Given the description of an element on the screen output the (x, y) to click on. 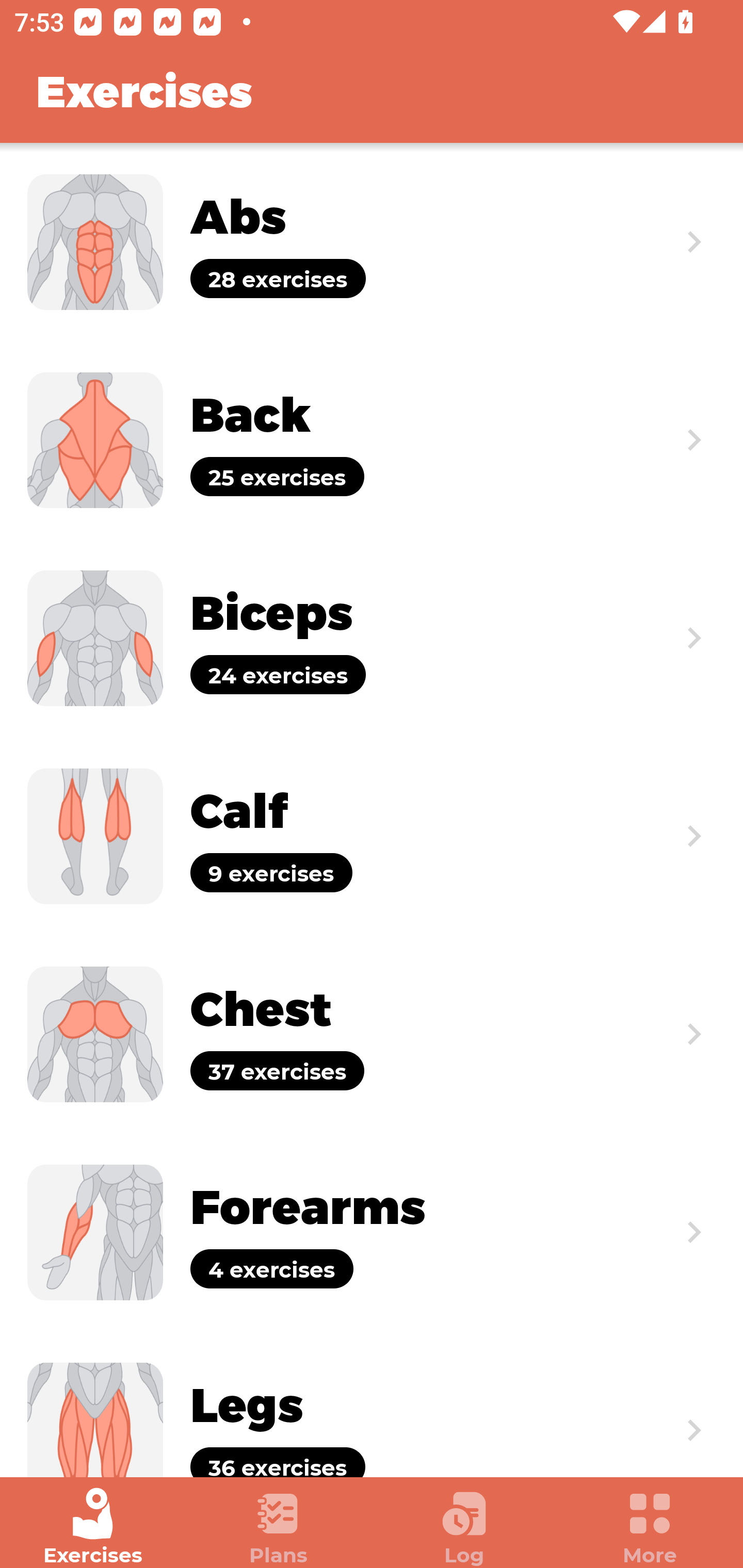
Exercise Abs 28 exercises (371, 241)
Exercise Back 25 exercises (371, 439)
Exercise Biceps 24 exercises (371, 637)
Exercise Calf 9 exercises (371, 836)
Exercise Chest 37 exercises (371, 1033)
Exercise Forearms 4 exercises (371, 1232)
Exercise Legs 36 exercises (371, 1404)
Exercises (92, 1527)
Plans (278, 1527)
Log (464, 1527)
More (650, 1527)
